Given the description of an element on the screen output the (x, y) to click on. 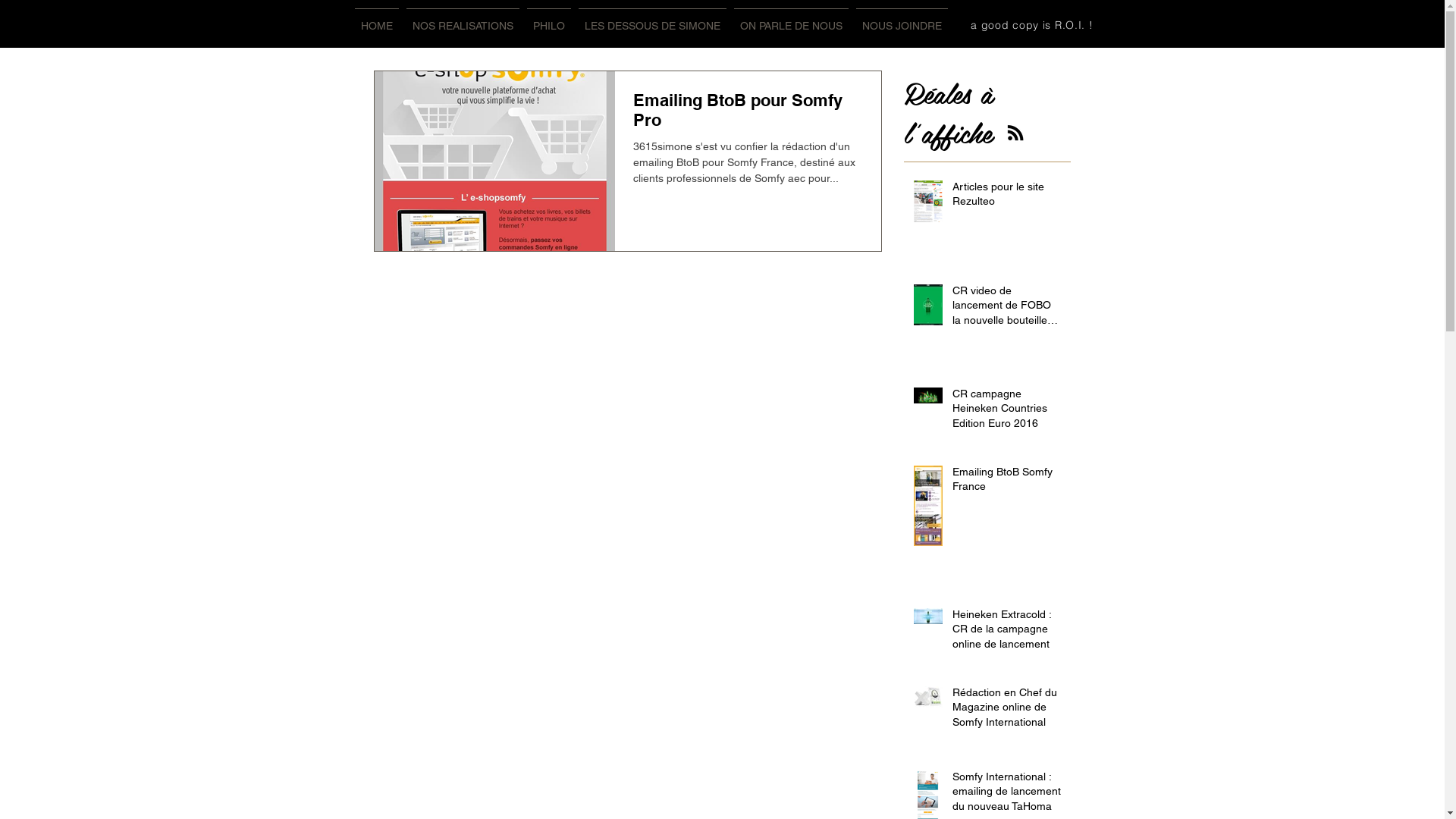
Articles pour le site Rezulteo Element type: text (1006, 197)
PHILO Element type: text (548, 19)
Heineken Extracold : CR de la campagne online de lancement Element type: text (1006, 632)
HOME Element type: text (375, 19)
NOUS JOINDRE Element type: text (901, 19)
RSS Feed Element type: hover (1015, 132)
LES DESSOUS DE SIMONE Element type: text (652, 19)
NOS REALISATIONS Element type: text (461, 19)
ON PARLE DE NOUS Element type: text (790, 19)
Emailing BtoB pour Somfy Pro Element type: text (747, 113)
CR campagne Heineken Countries Edition Euro 2016 Element type: text (1006, 411)
Emailing BtoB Somfy France Element type: text (1006, 482)
